Given the description of an element on the screen output the (x, y) to click on. 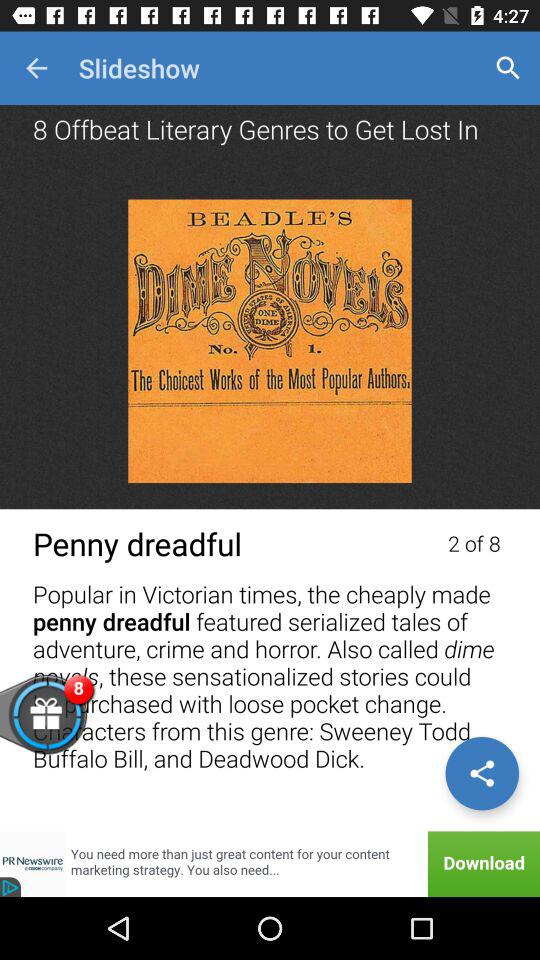
share the article (482, 773)
